Given the description of an element on the screen output the (x, y) to click on. 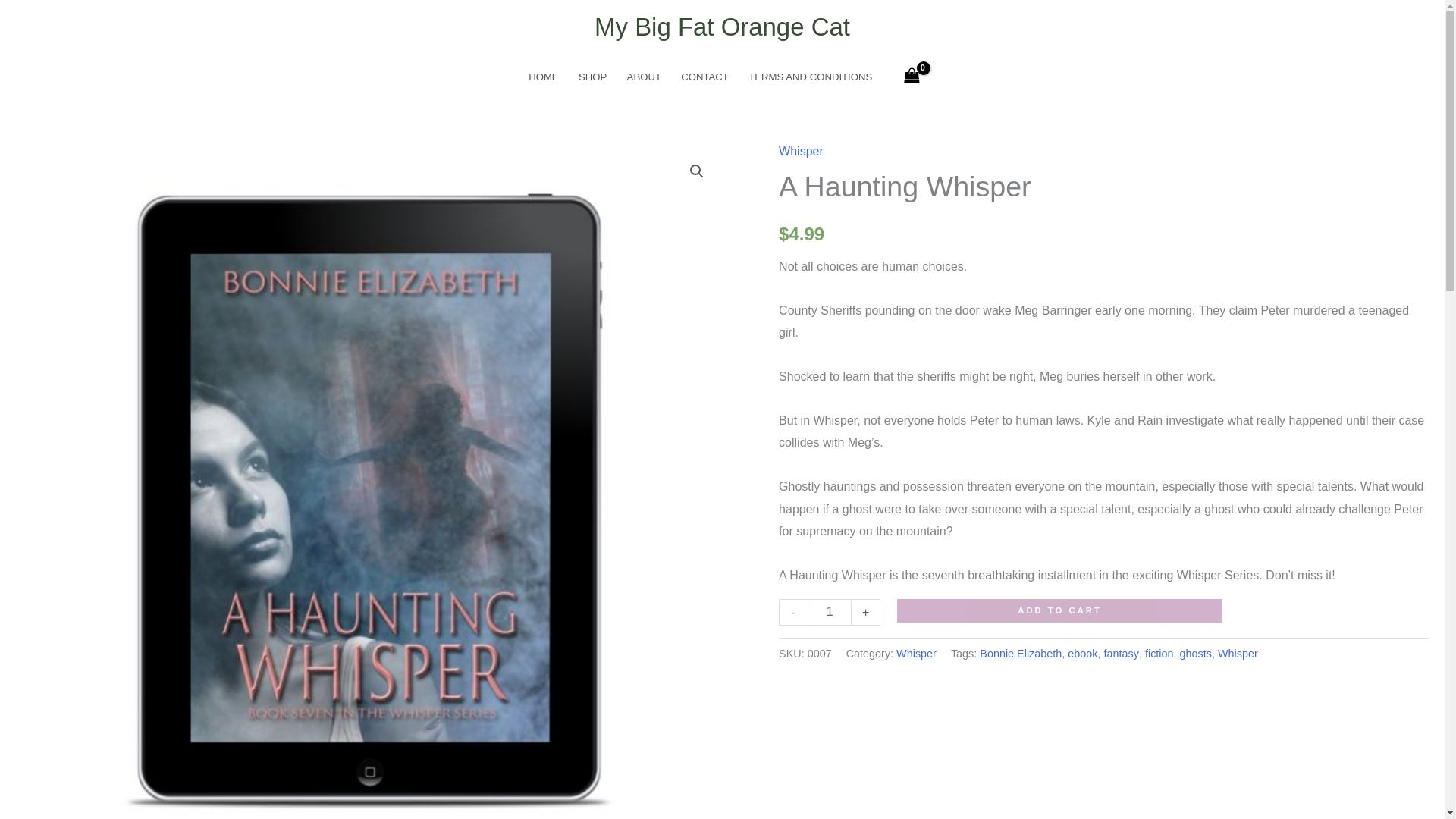
Whisper (1237, 653)
Bonnie Elizabeth (1020, 653)
ADD TO CART (1059, 610)
fiction (1158, 653)
CONTACT (704, 76)
Whisper (801, 151)
ebook (1082, 653)
ghosts (1195, 653)
fantasy (1120, 653)
